Given the description of an element on the screen output the (x, y) to click on. 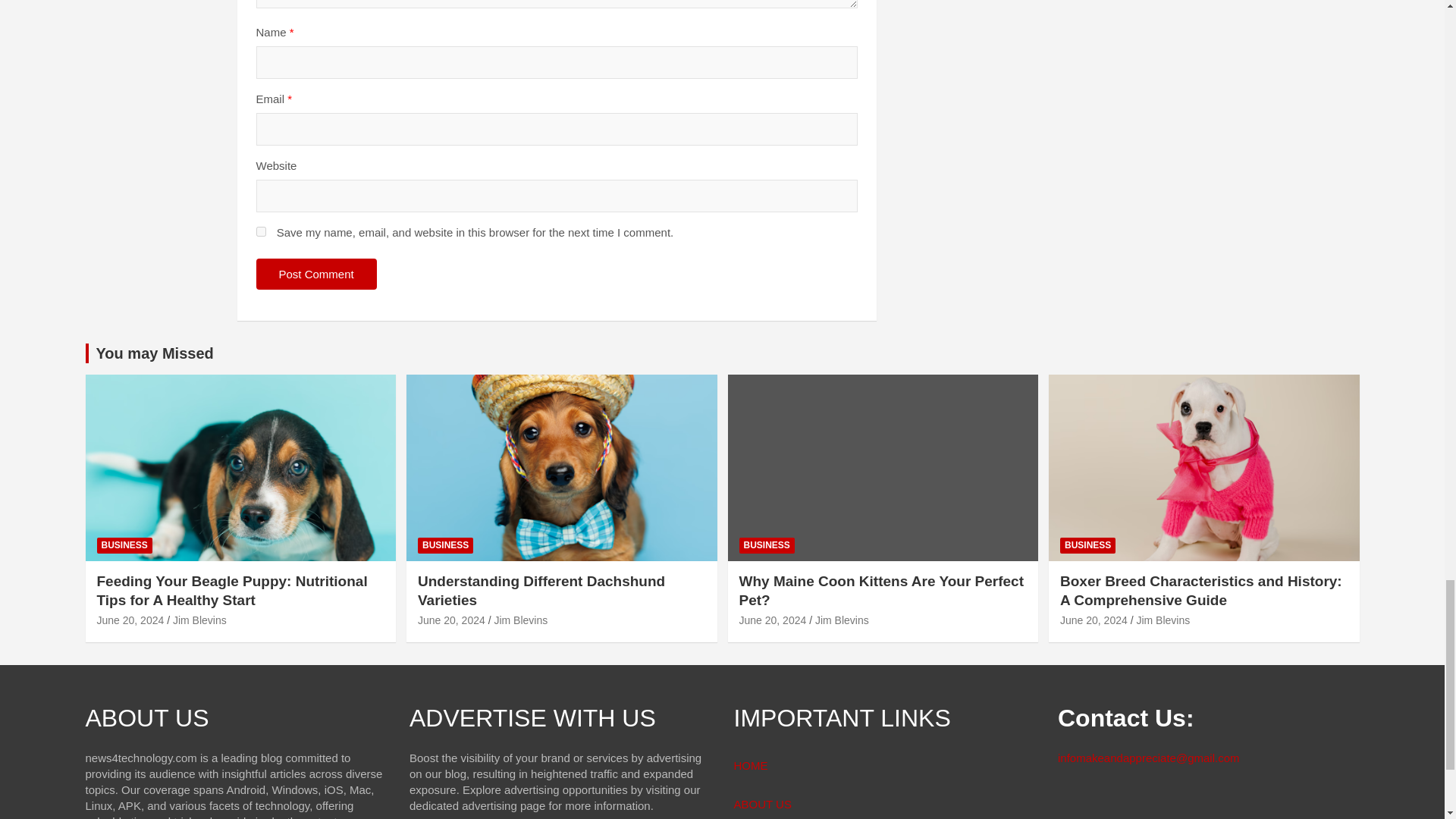
Post Comment (316, 273)
yes (261, 231)
Why Maine Coon Kittens Are Your Perfect Pet? (772, 620)
Understanding Different Dachshund Varieties (450, 620)
Post Comment (316, 273)
